Given the description of an element on the screen output the (x, y) to click on. 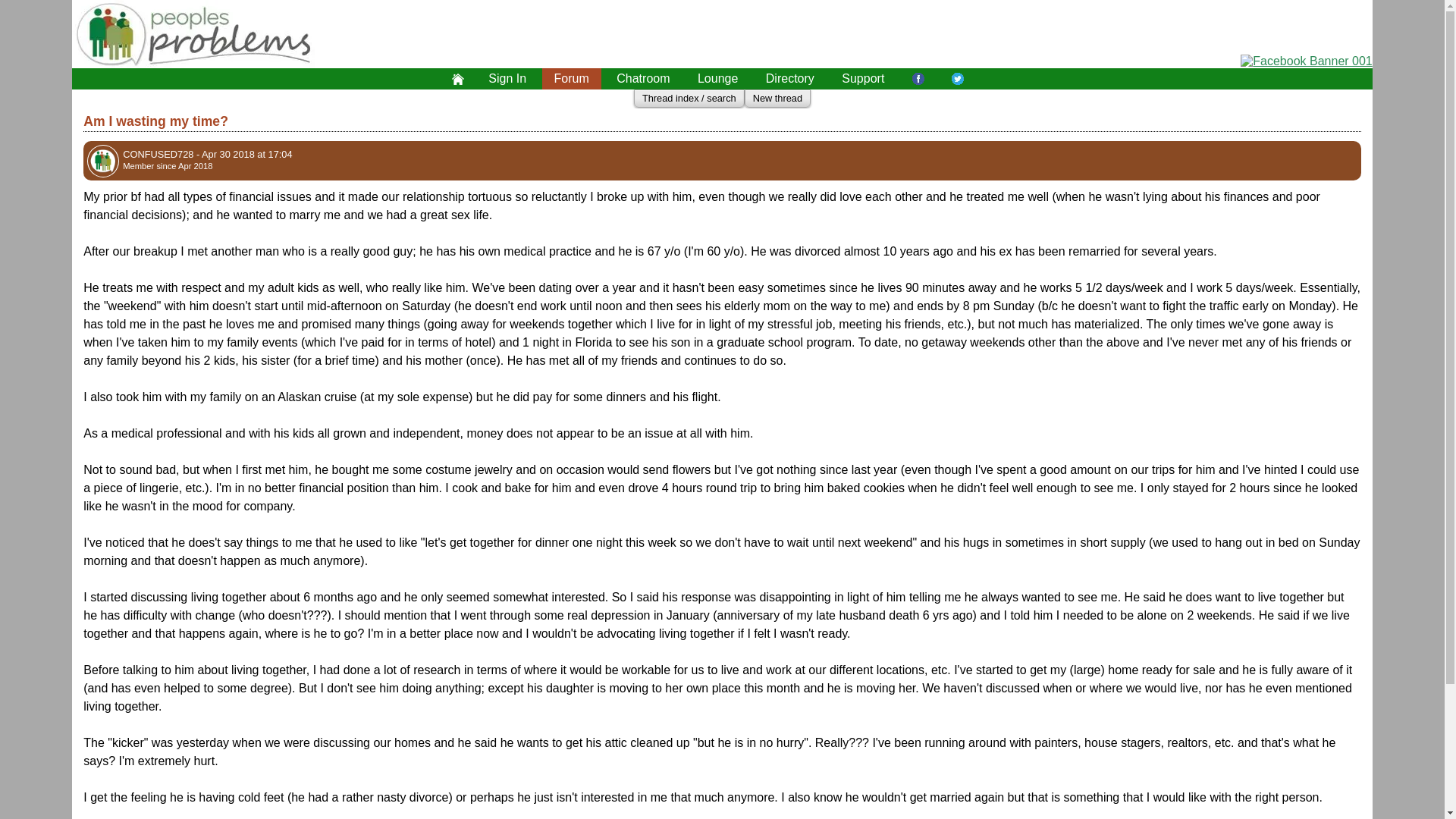
Support (862, 78)
Forum (571, 78)
Directory (790, 78)
New thread (777, 98)
Chatroom (642, 78)
Sign In (507, 78)
Lounge (717, 78)
